Given the description of an element on the screen output the (x, y) to click on. 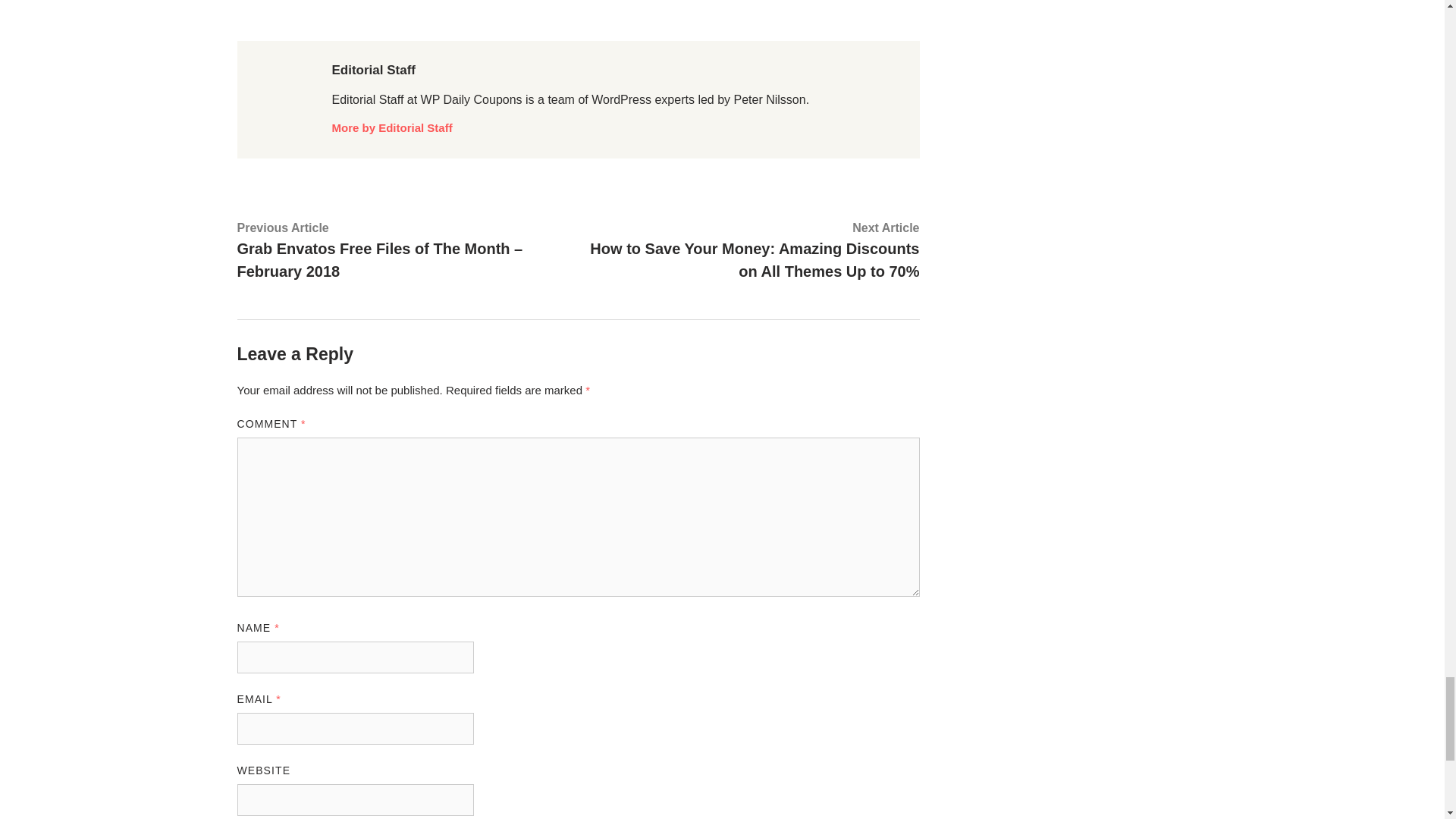
Editorial Staff (373, 69)
More by Editorial Staff (391, 127)
